Given the description of an element on the screen output the (x, y) to click on. 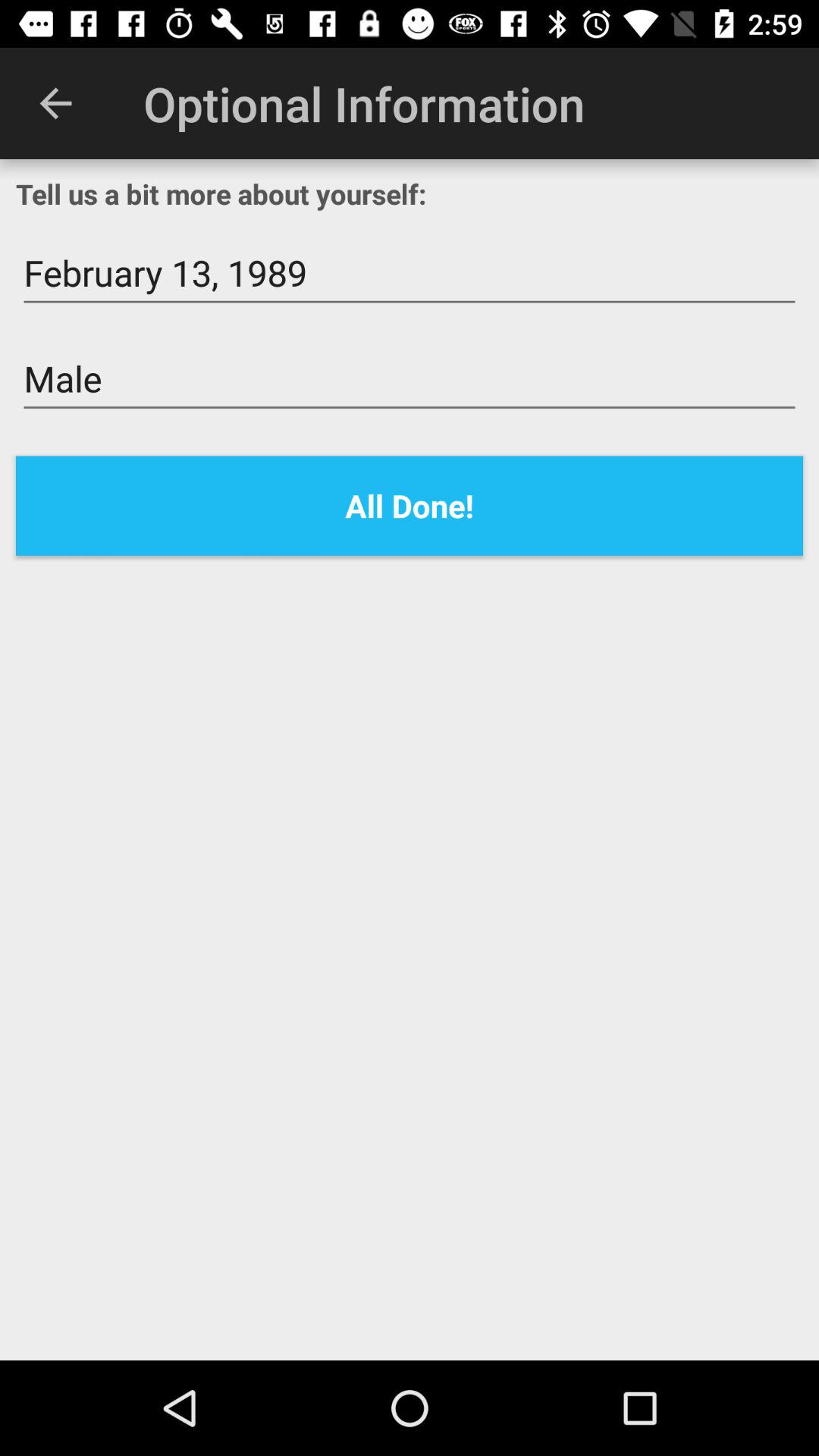
flip until the male (409, 379)
